Given the description of an element on the screen output the (x, y) to click on. 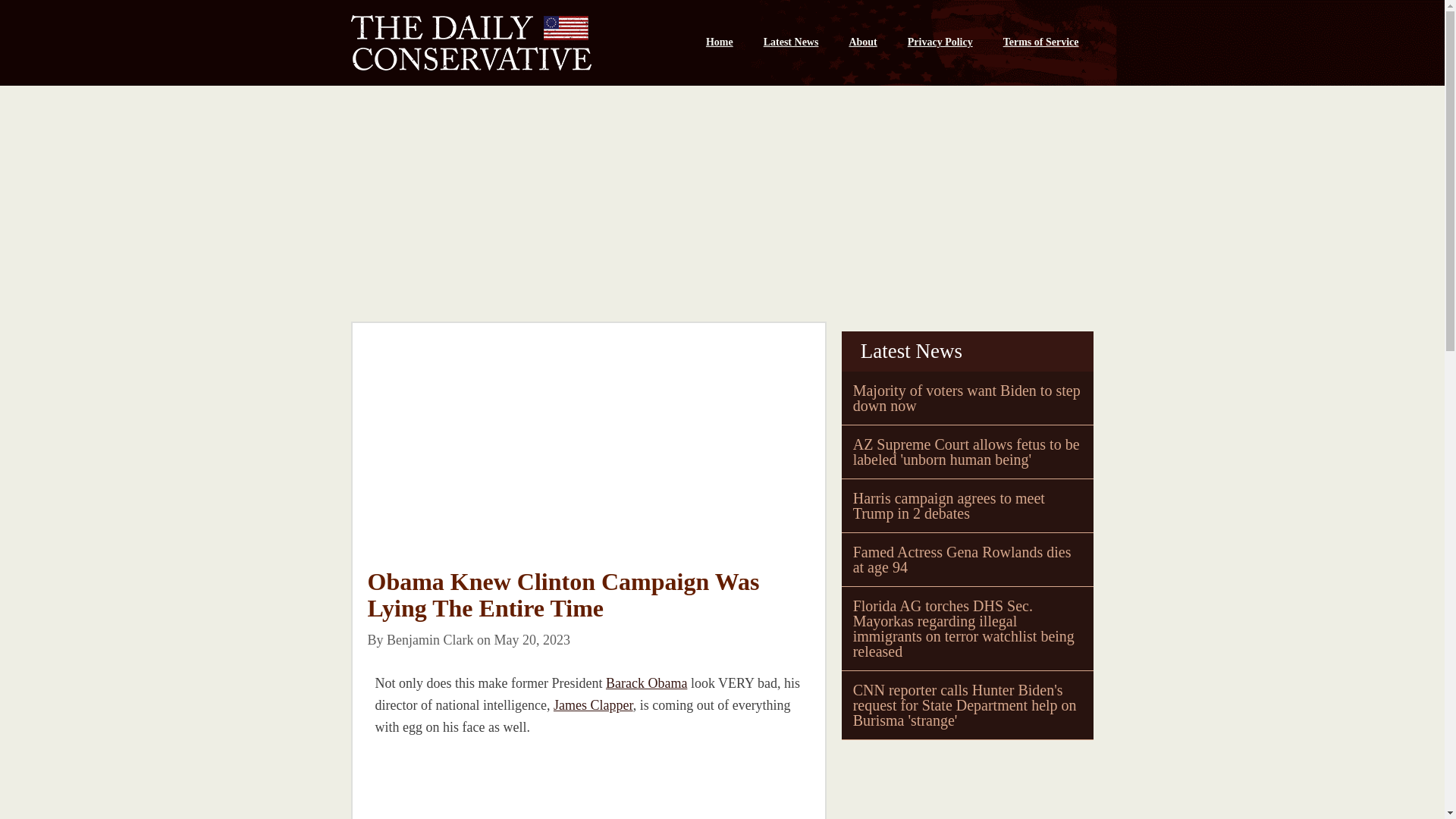
Privacy Policy (940, 42)
Harris campaign agrees to meet Trump in 2 debates (949, 505)
Terms of Service (1041, 42)
About (861, 42)
Advertisement (480, 785)
Advertisement (954, 782)
Barack Obama (646, 683)
